Given the description of an element on the screen output the (x, y) to click on. 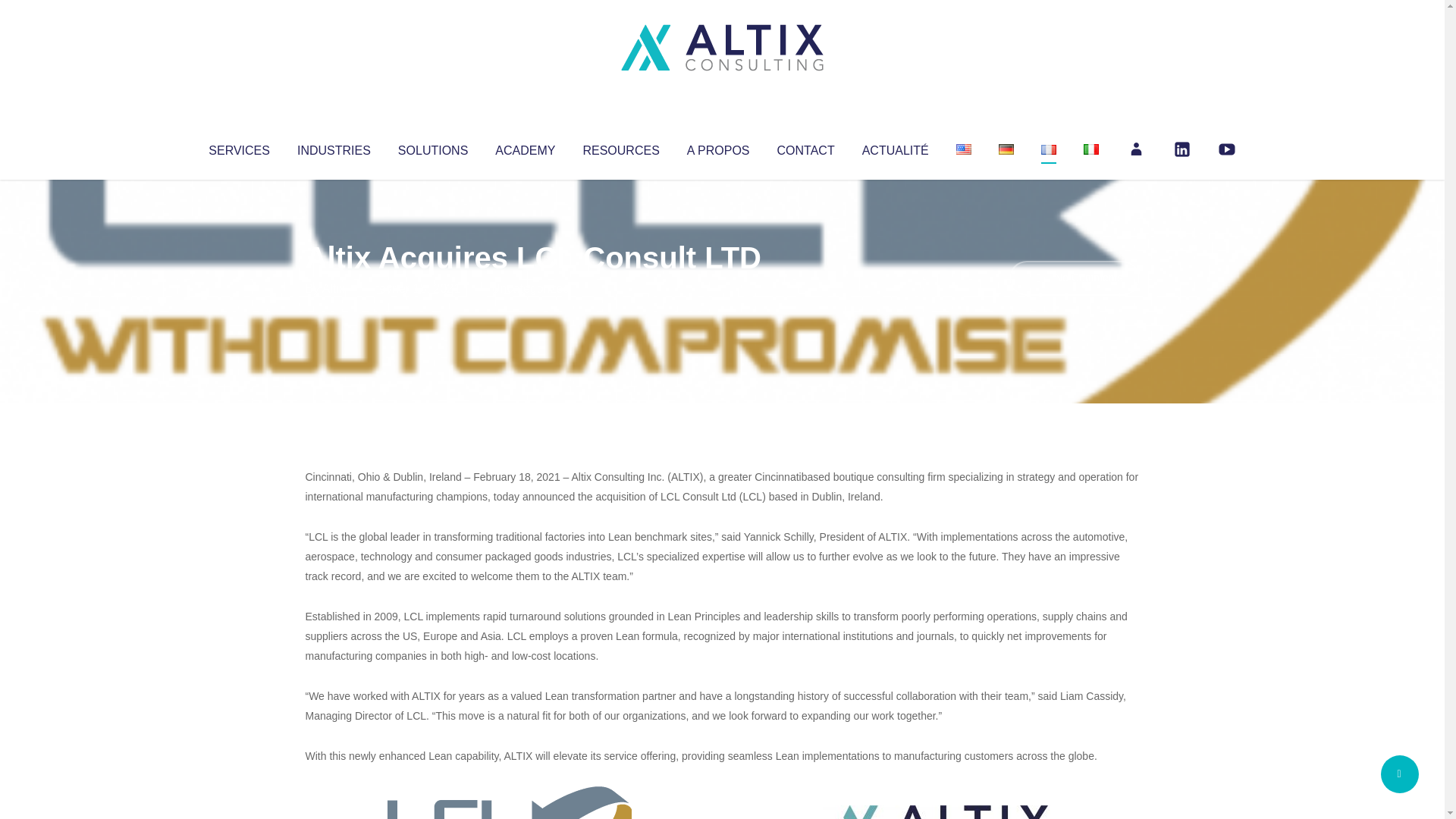
RESOURCES (620, 146)
ACADEMY (524, 146)
Articles par Altix (333, 287)
No Comments (1073, 278)
Uncategorized (530, 287)
A PROPOS (718, 146)
SOLUTIONS (432, 146)
INDUSTRIES (334, 146)
Altix (333, 287)
SERVICES (238, 146)
